Given the description of an element on the screen output the (x, y) to click on. 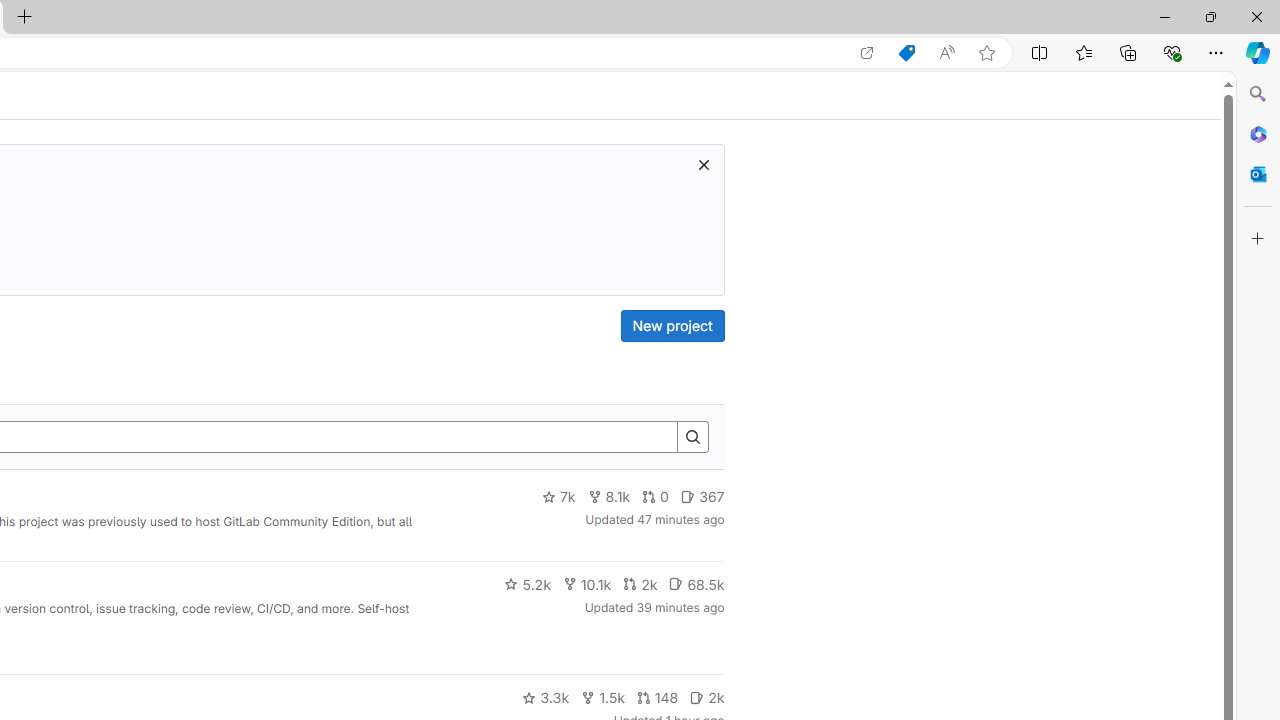
Open in app (867, 53)
7k (558, 497)
10.1k (586, 583)
3.3k (545, 697)
2k (706, 697)
5.2k (527, 583)
Dismiss trial promotion (703, 164)
367 (701, 497)
